Given the description of an element on the screen output the (x, y) to click on. 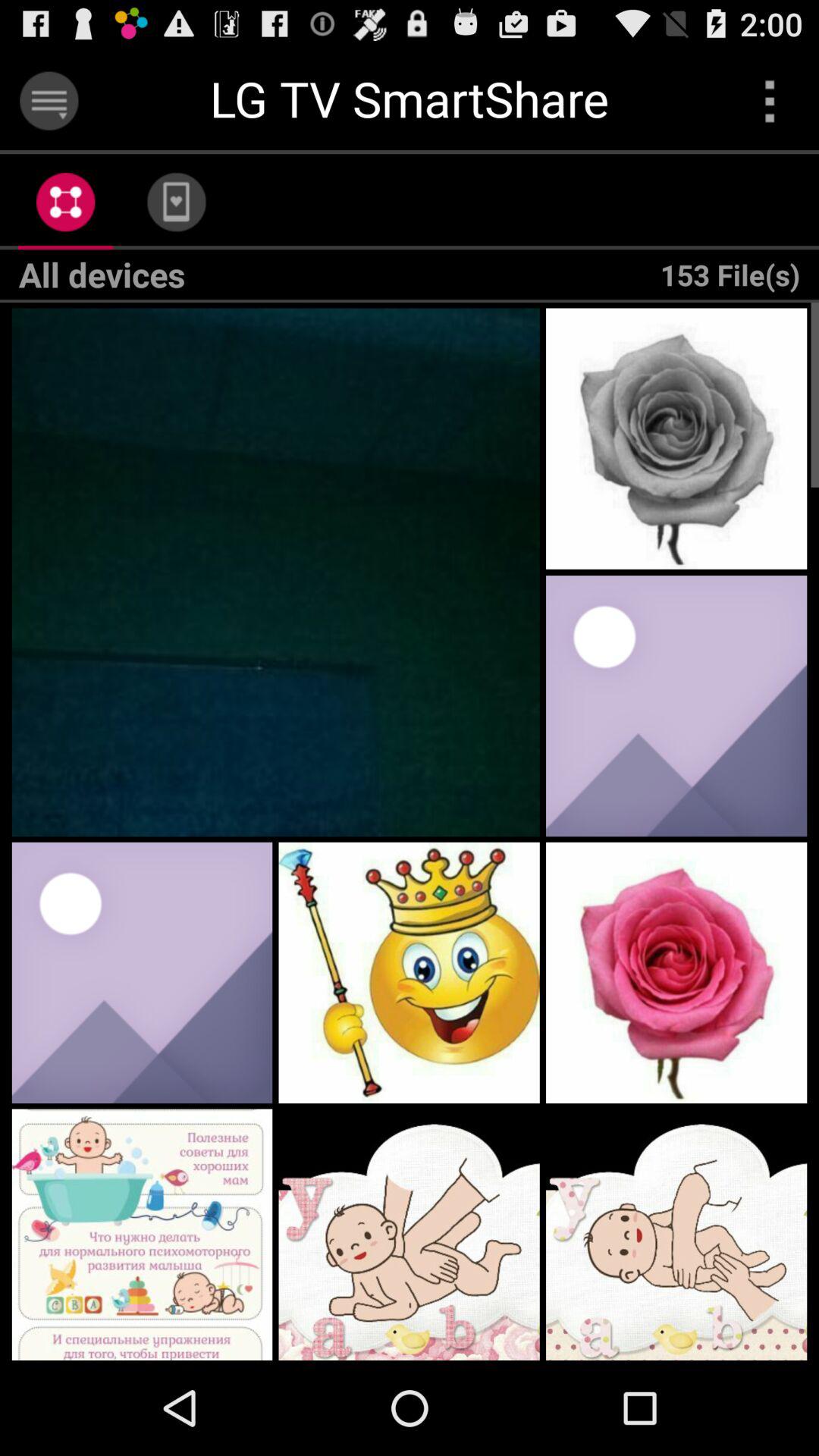
choose app below lg tv smartshare icon (176, 201)
